Given the description of an element on the screen output the (x, y) to click on. 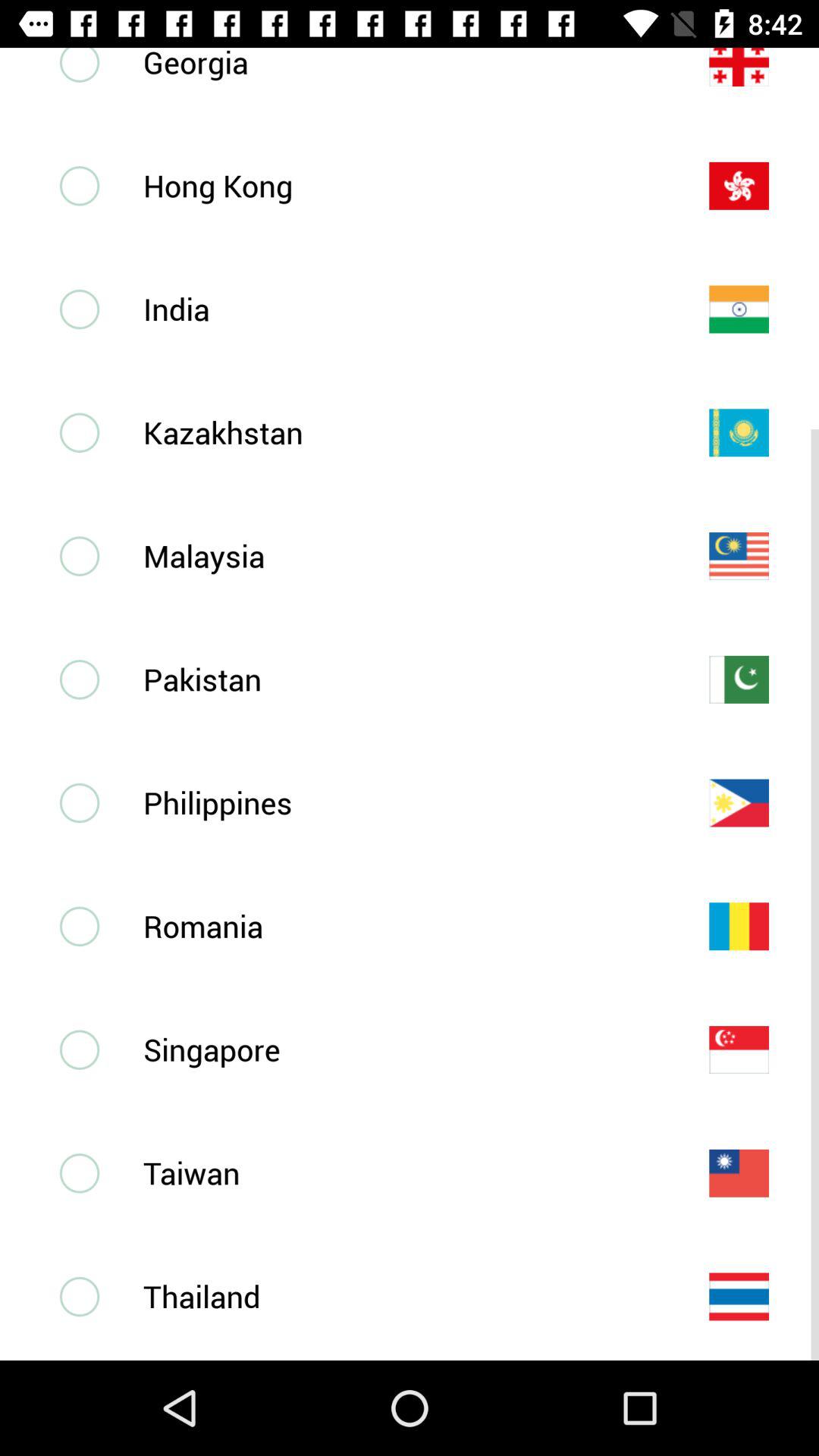
launch hong kong (401, 185)
